Given the description of an element on the screen output the (x, y) to click on. 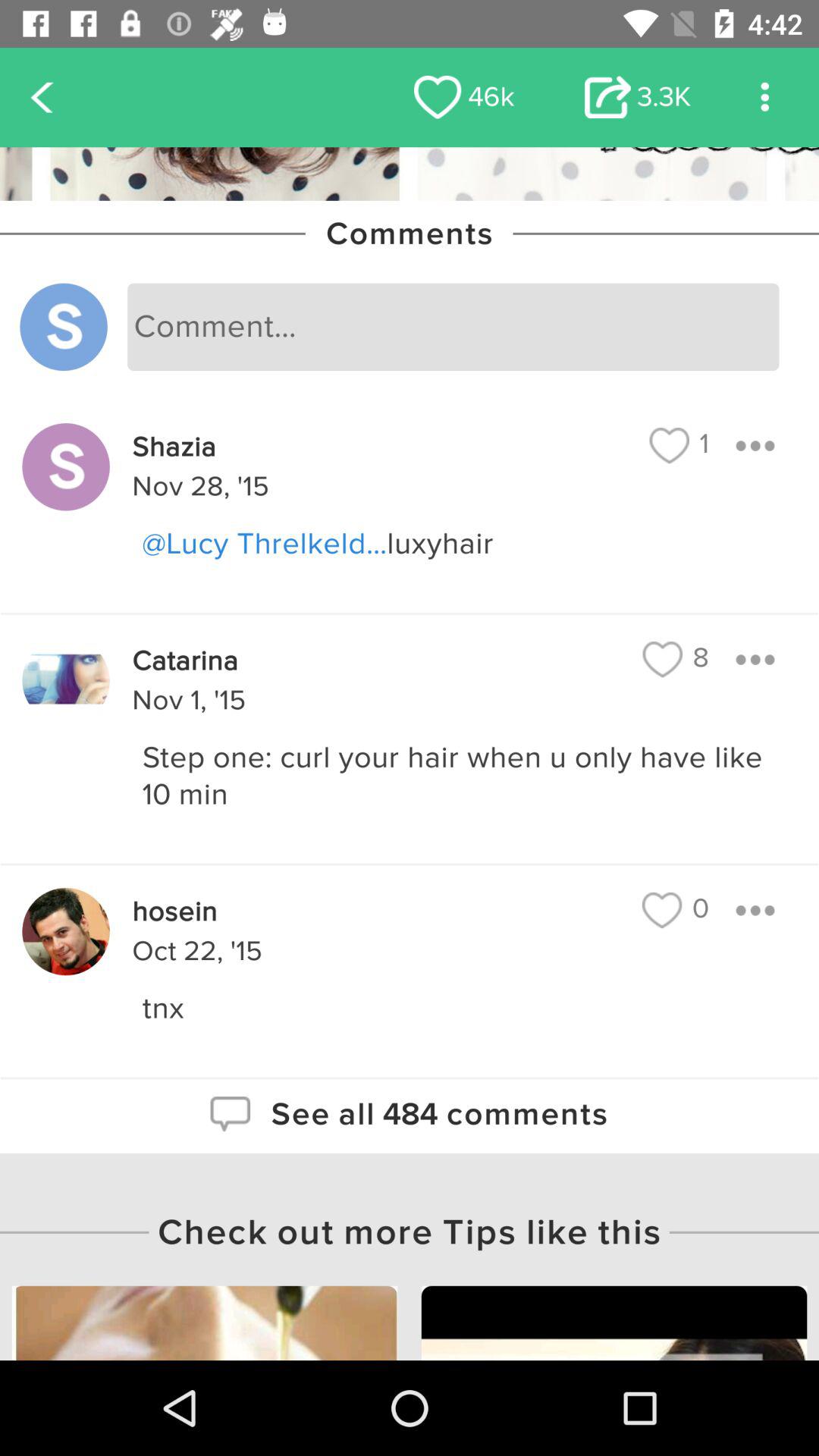
select option (755, 659)
